Given the description of an element on the screen output the (x, y) to click on. 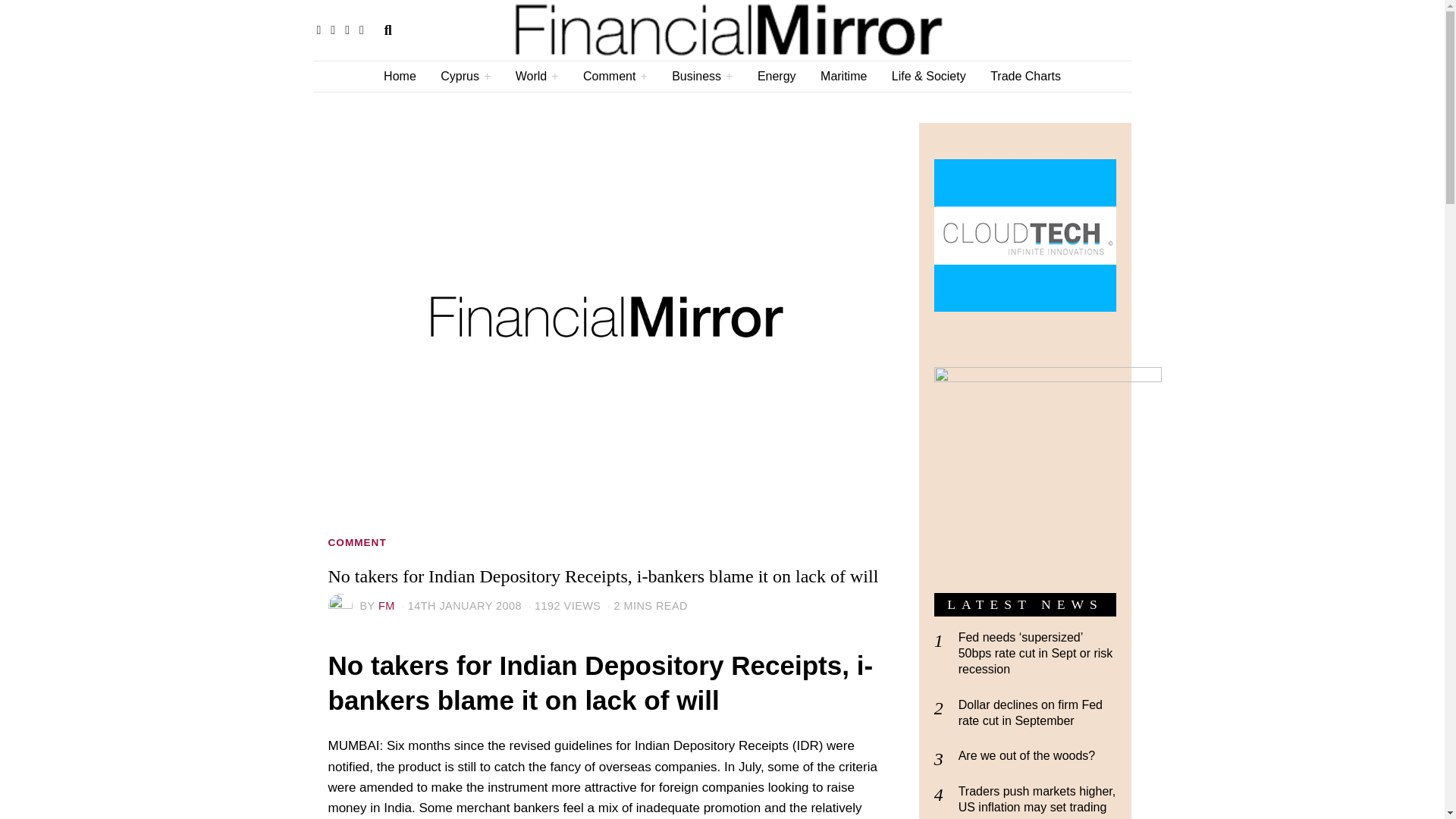
FM (386, 605)
Home (399, 76)
Energy (776, 76)
Comment (615, 76)
Cyprus (464, 76)
World (537, 76)
Trade Charts (1025, 76)
COMMENT (356, 543)
Maritime (843, 76)
Business (701, 76)
